Given the description of an element on the screen output the (x, y) to click on. 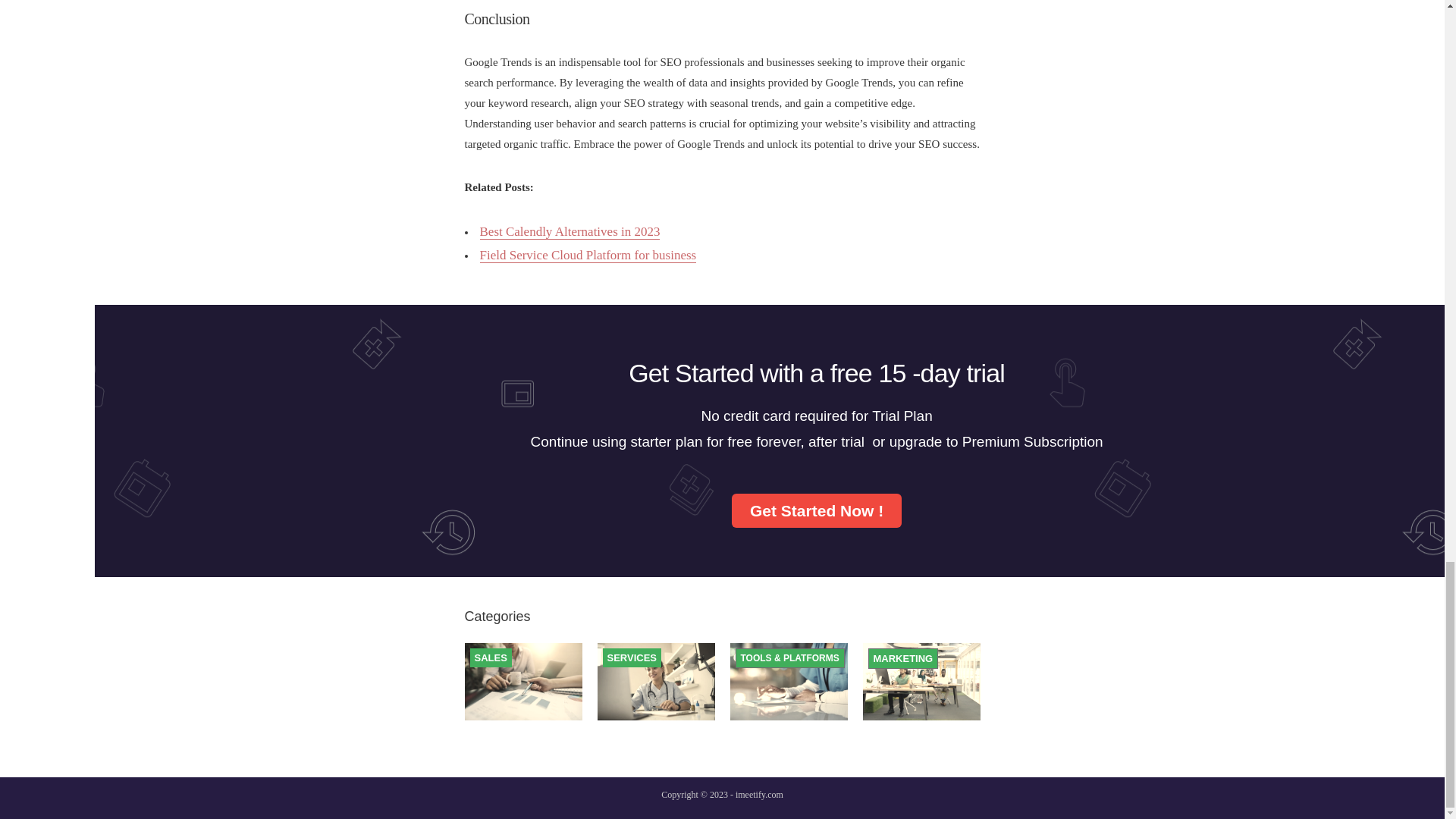
Get Started Now ! (816, 510)
SERVICES (631, 657)
Best Calendly Alternatives in 2023 (569, 231)
MARKETING (903, 658)
SALES (490, 657)
Field Service Cloud Platform for business (587, 255)
